Given the description of an element on the screen output the (x, y) to click on. 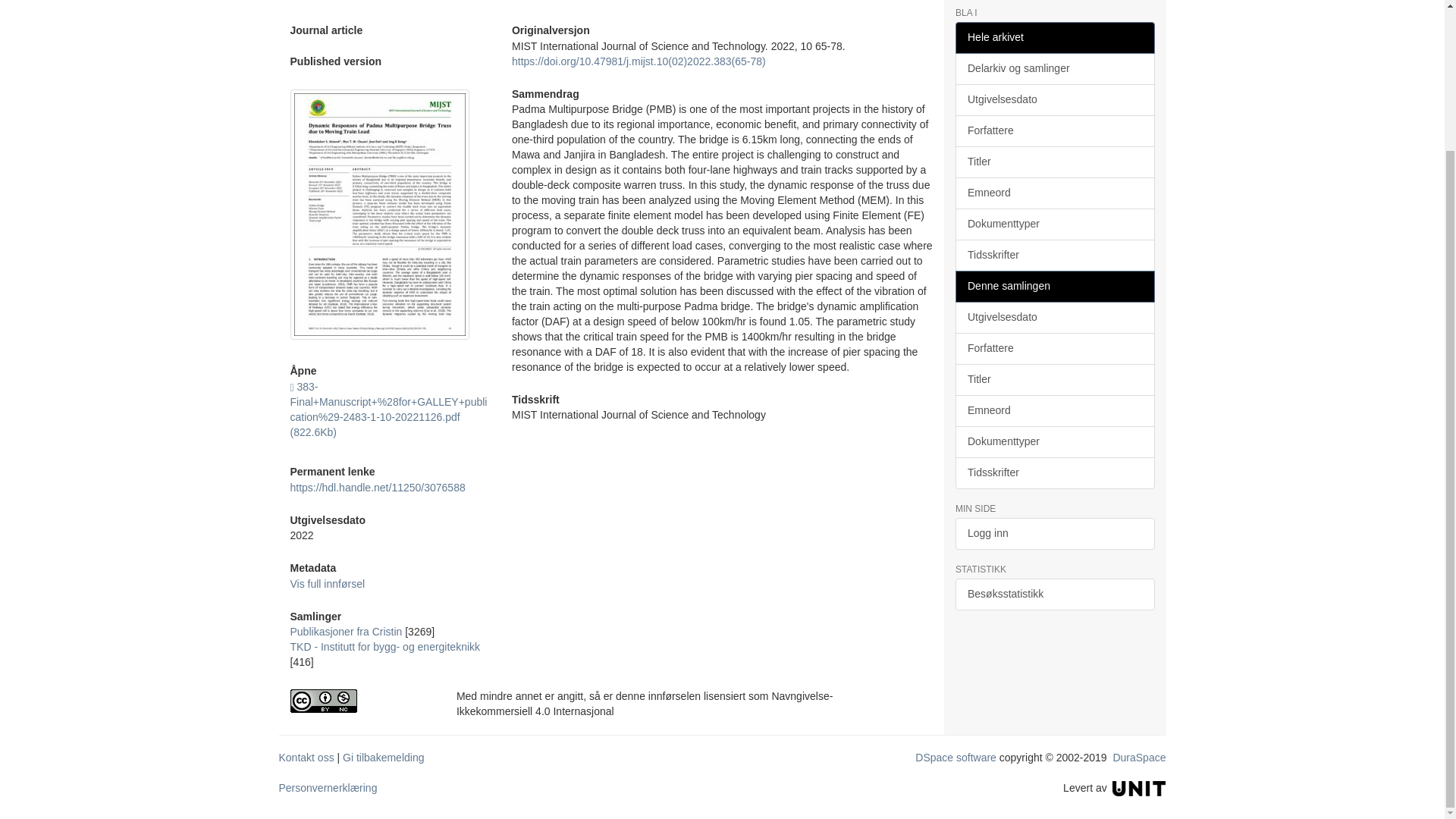
Unit (1139, 787)
Hele arkivet (1054, 38)
Navngivelse-Ikkekommersiell 4.0 Internasjonal (360, 700)
Publikasjoner fra Cristin (345, 631)
Delarkiv og samlinger (1054, 69)
TKD - Institutt for bygg- og energiteknikk (384, 646)
